Given the description of an element on the screen output the (x, y) to click on. 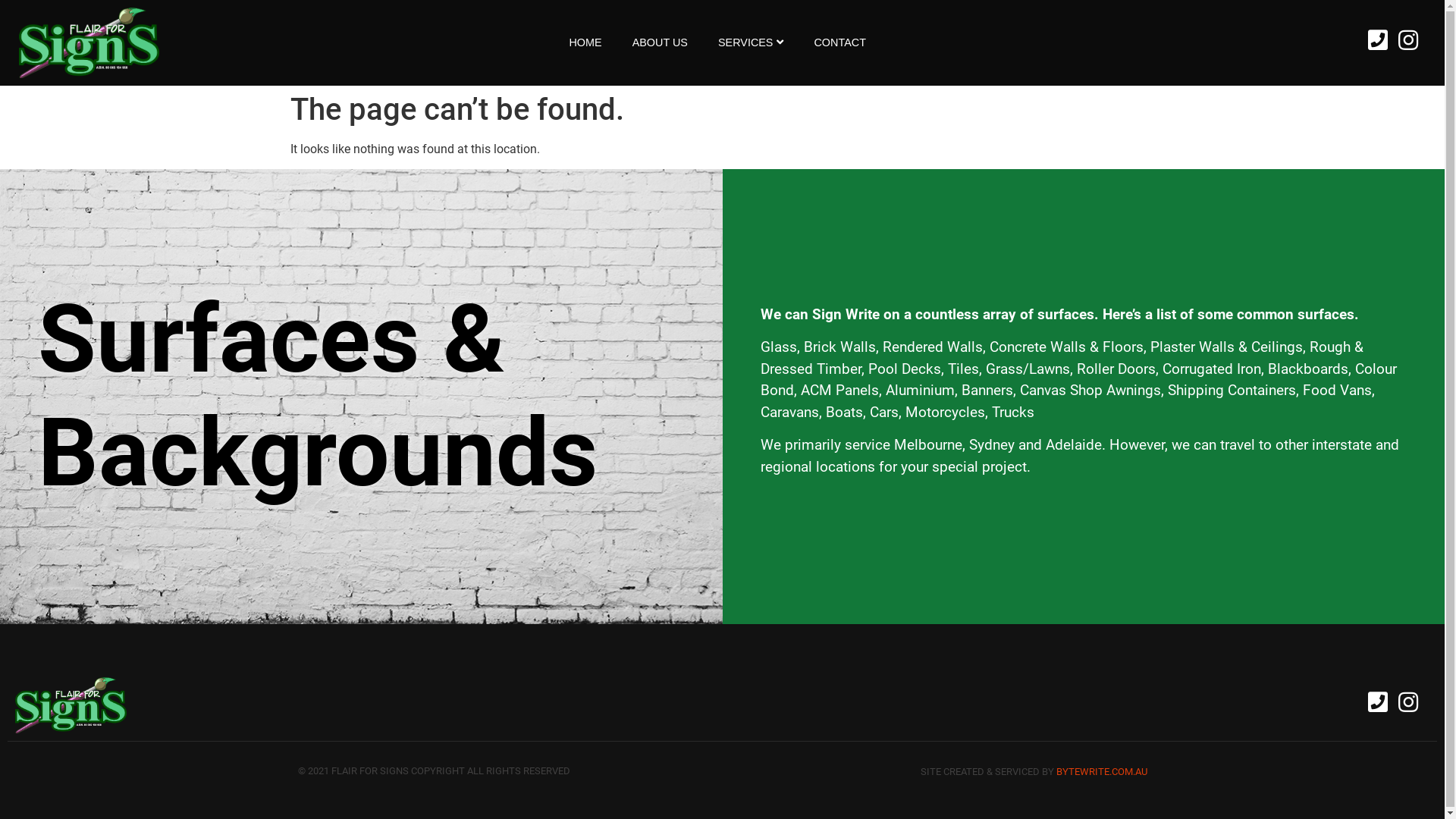
CONTACT Element type: text (839, 42)
SERVICES Element type: text (750, 42)
BYTEWRITE.COM.AU Element type: text (1100, 771)
ABOUT US Element type: text (659, 42)
HOME Element type: text (584, 42)
